Given the description of an element on the screen output the (x, y) to click on. 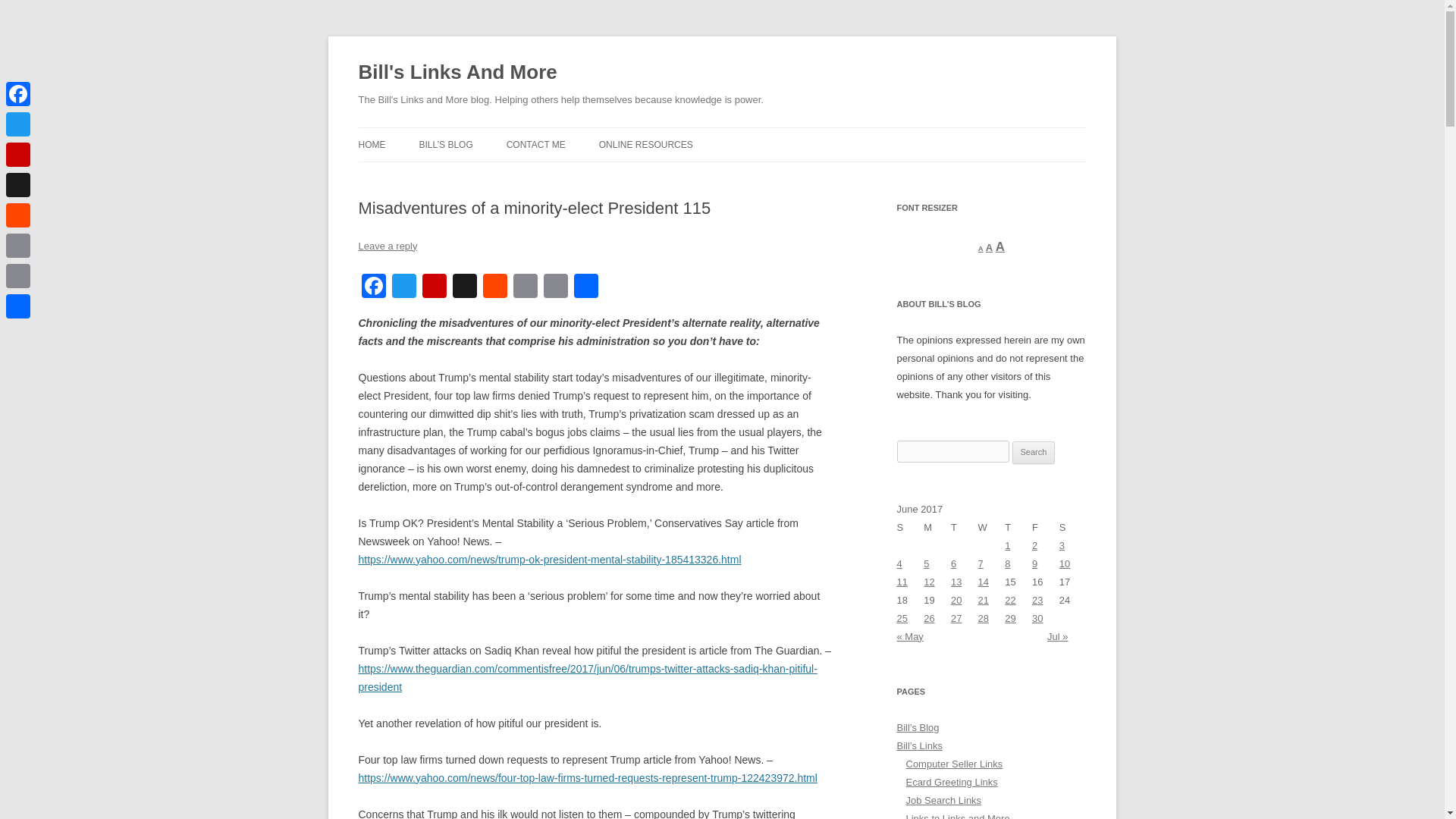
Facebook (373, 287)
CONTACT ME (536, 144)
Email (555, 287)
Flipboard (433, 287)
Digg (463, 287)
COMPUTER SELLER LINKS (433, 176)
Email (555, 287)
Share (584, 287)
Bill's Links And More (457, 72)
ONLINE RESOURCES (645, 144)
Print (524, 287)
Facebook (373, 287)
Reddit (494, 287)
Flipboard (433, 287)
Leave a reply (387, 245)
